Given the description of an element on the screen output the (x, y) to click on. 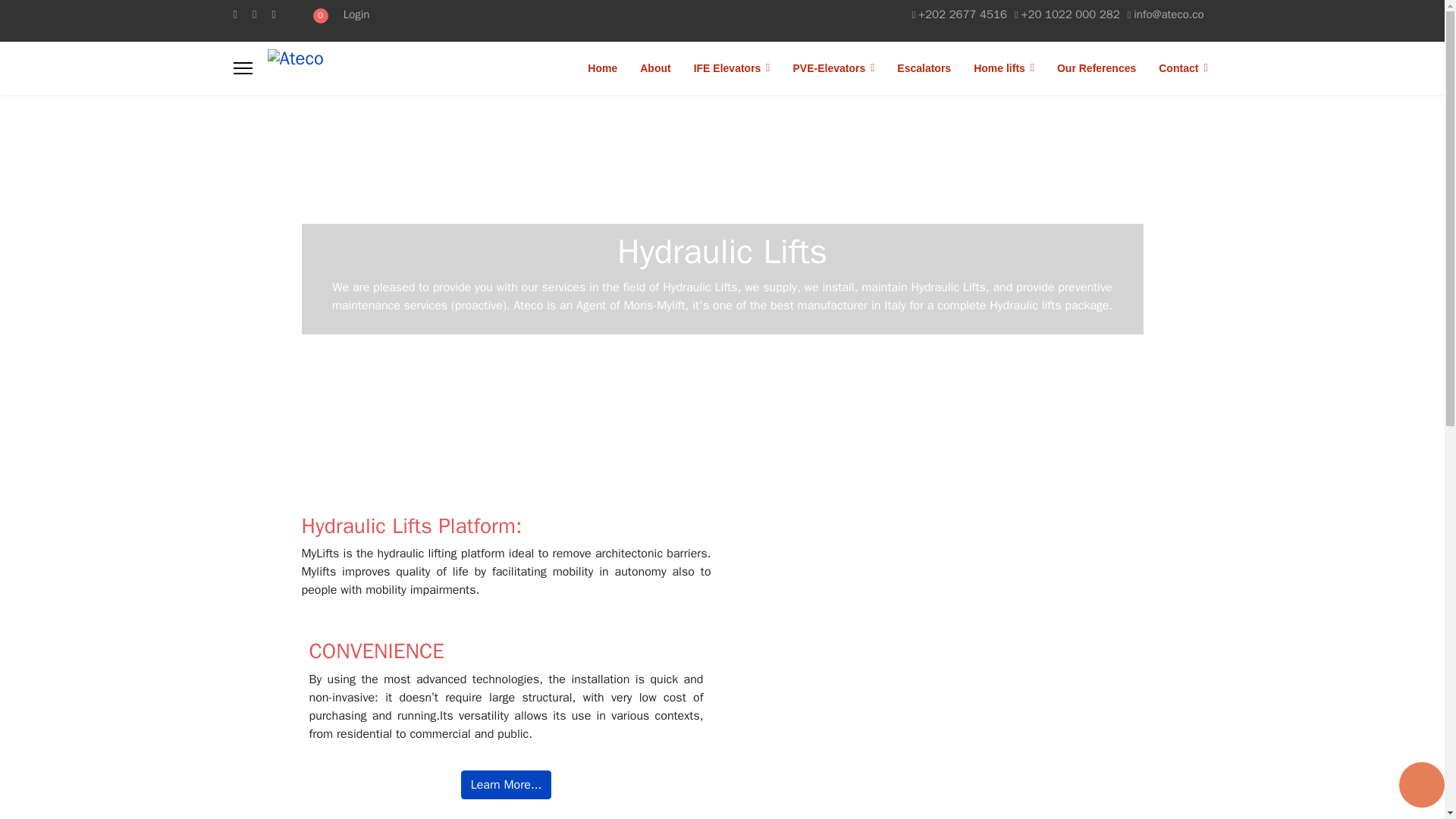
Login (356, 14)
Our References (1096, 67)
Home (602, 67)
About (654, 67)
Escalators (923, 67)
Learn More... (506, 784)
IFE Elevators (731, 67)
0 (318, 14)
PVE-Elevators (832, 67)
Contact (1177, 67)
